Given the description of an element on the screen output the (x, y) to click on. 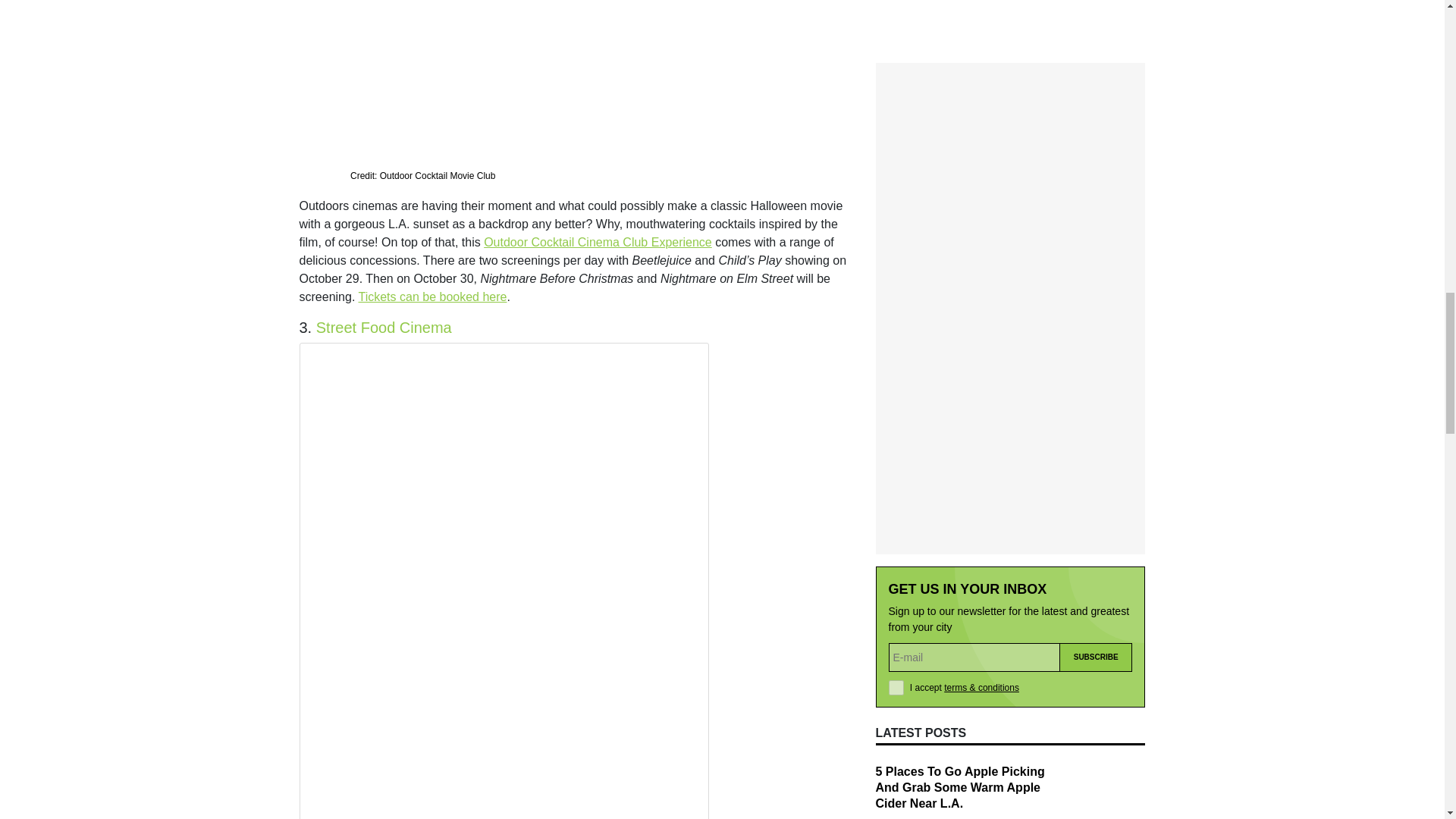
Street Food Cinema (383, 327)
Tickets can be booked here (432, 296)
Outdoor Cocktail Cinema Club Experience (597, 241)
